Given the description of an element on the screen output the (x, y) to click on. 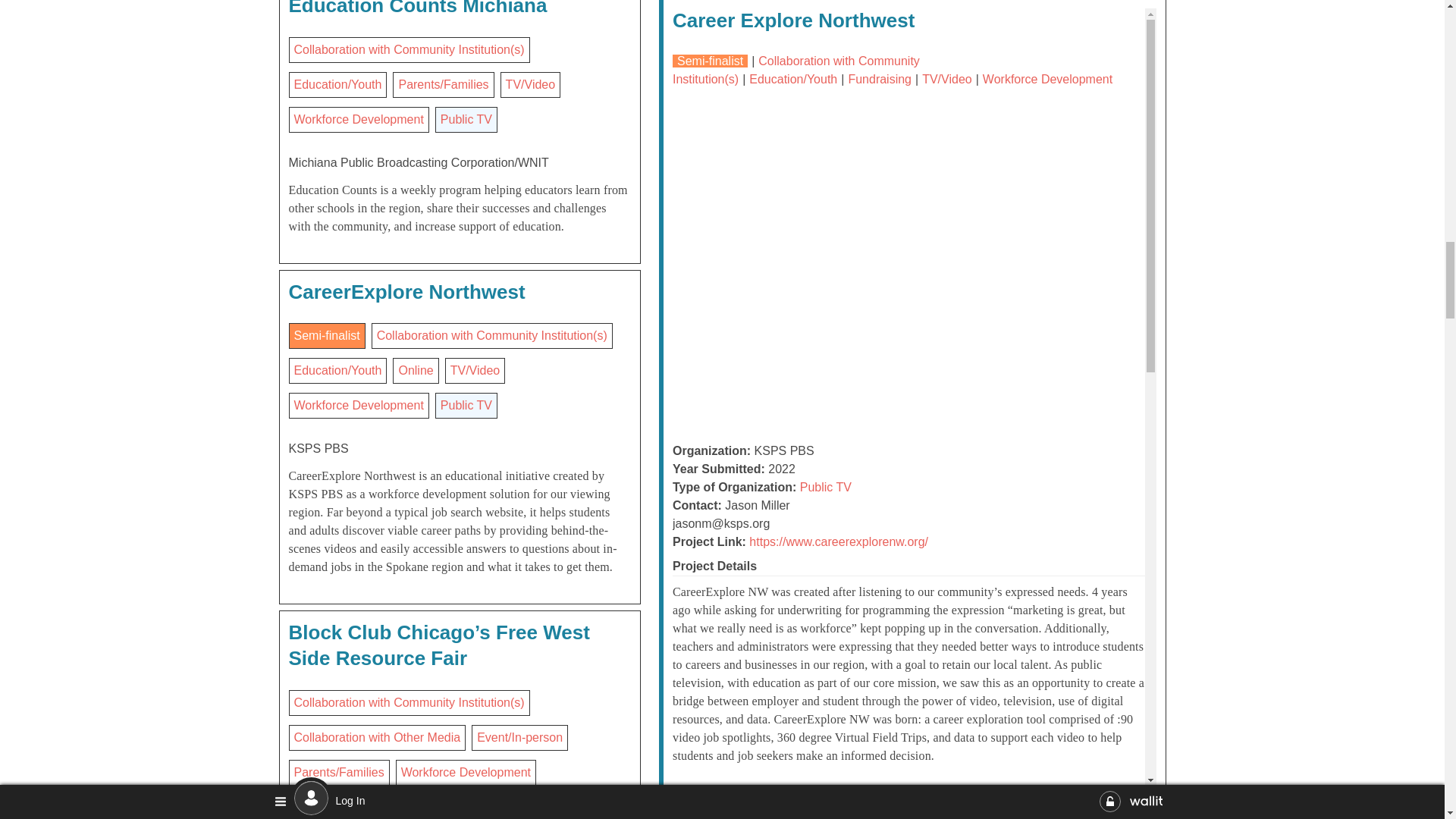
Permalink to CareerExplore Northwest (406, 291)
Permalink to Education Counts Michiana (417, 8)
